Given the description of an element on the screen output the (x, y) to click on. 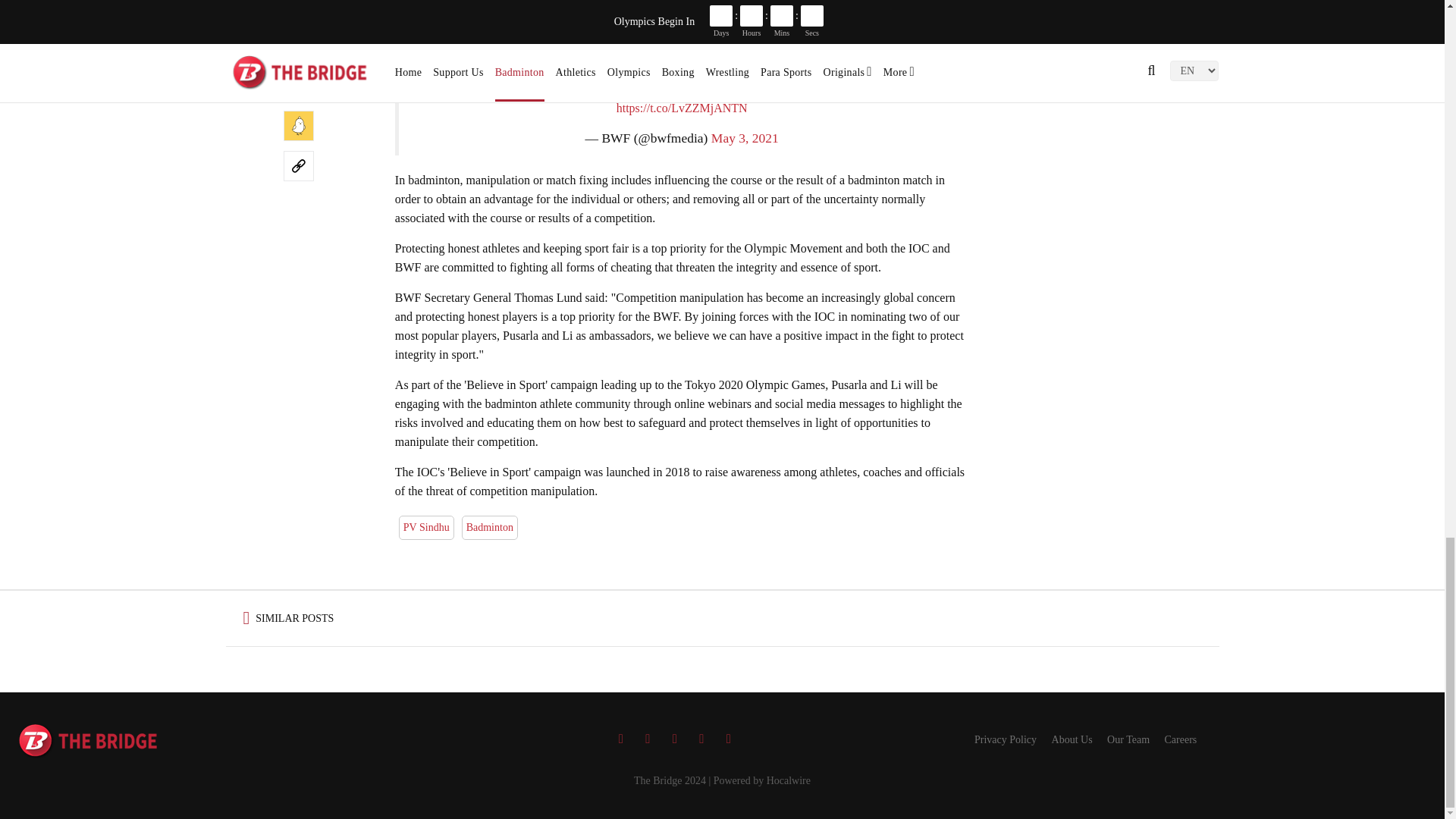
LinkedIn (298, 10)
Share by Email (298, 45)
